Given the description of an element on the screen output the (x, y) to click on. 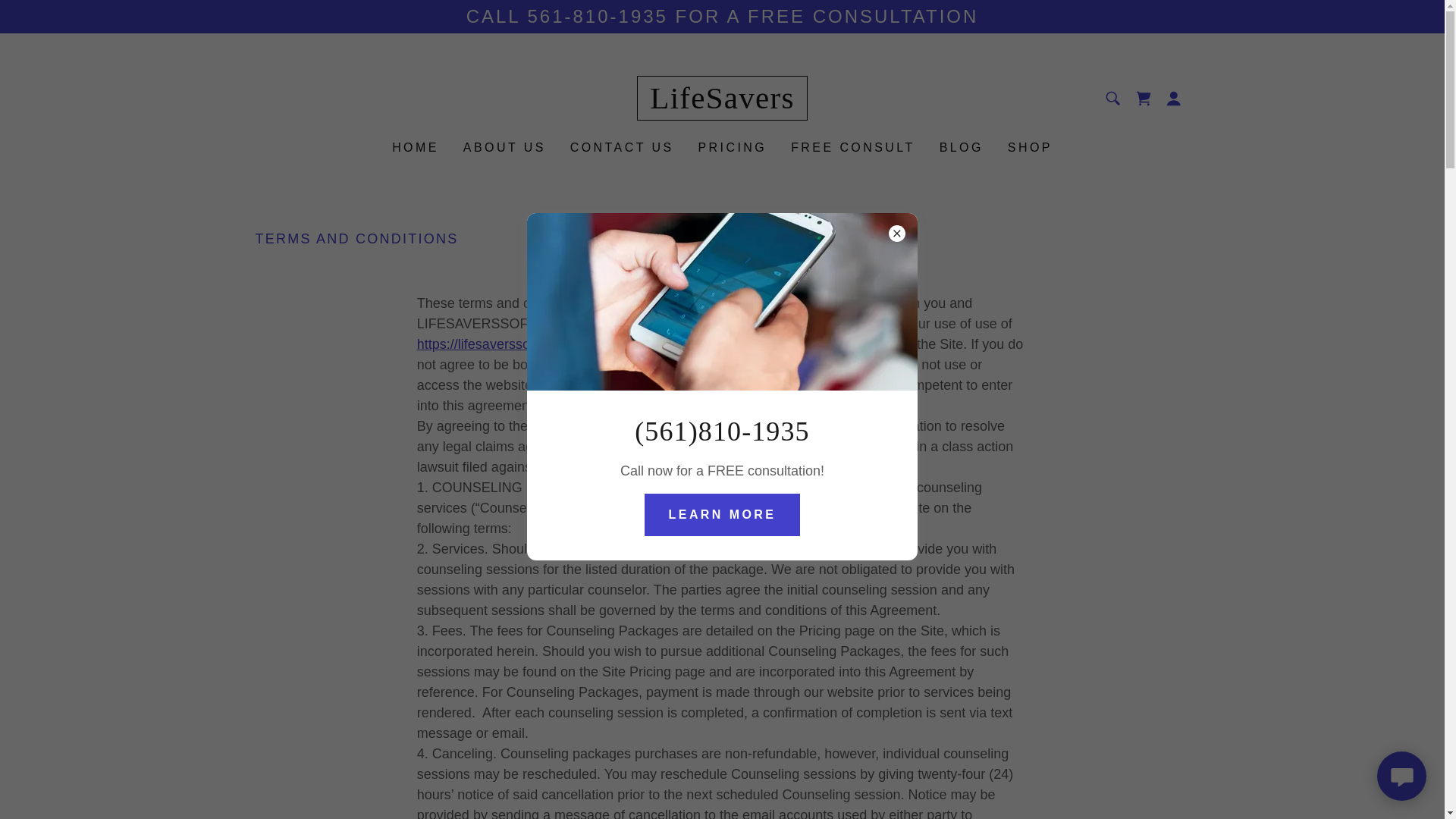
SHOP (1030, 147)
BLOG (961, 147)
FREE CONSULT (852, 147)
ABOUT US (504, 147)
LifeSavers (721, 103)
PRICING (732, 147)
HOME (415, 147)
LifeSavers (721, 103)
CONTACT US (622, 147)
